Given the description of an element on the screen output the (x, y) to click on. 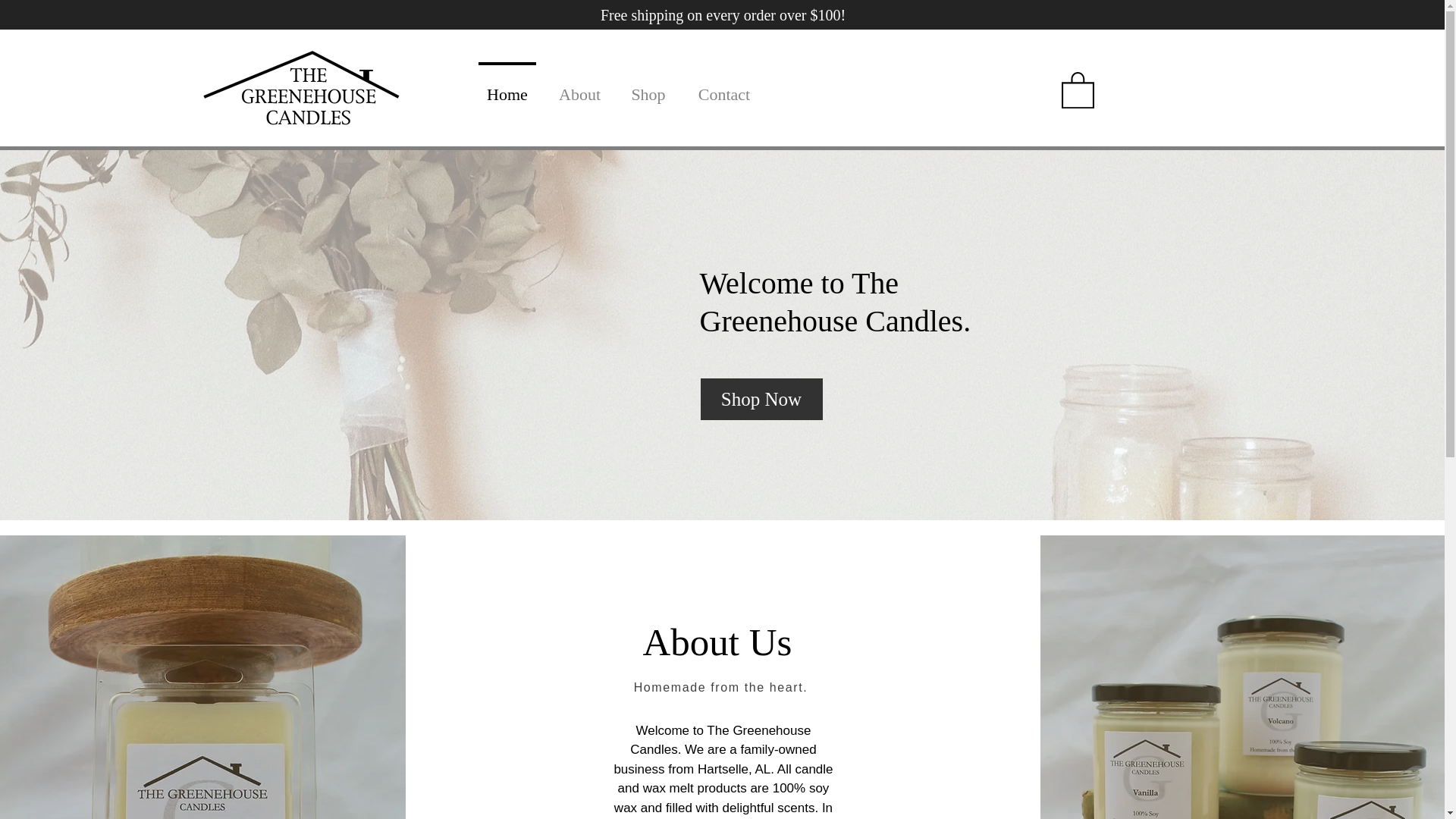
Shop (648, 87)
Home (506, 87)
About (579, 87)
Contact (724, 87)
Shop Now (761, 399)
